Given the description of an element on the screen output the (x, y) to click on. 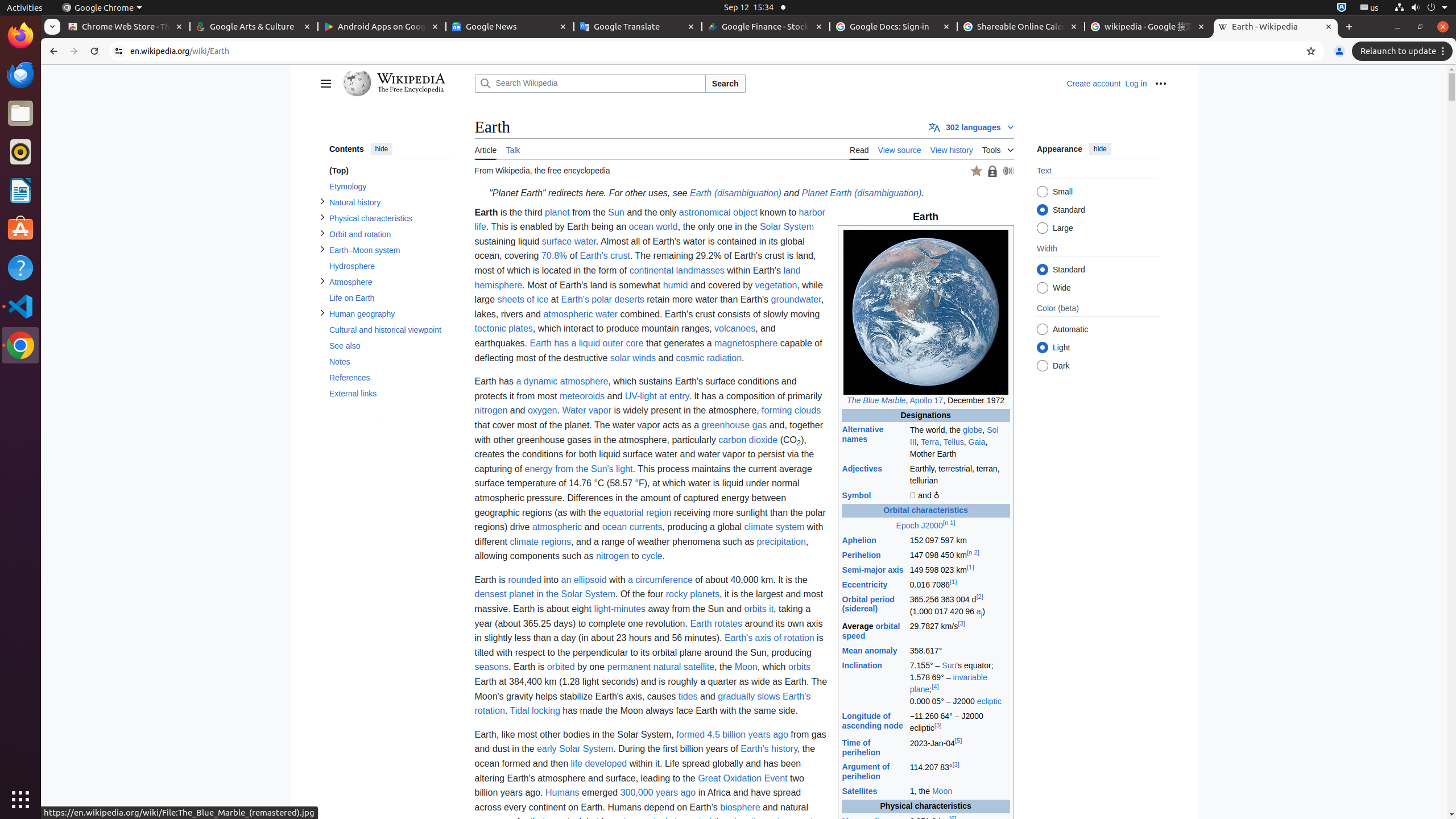
[3] Element type: link (961, 623)
Tidal locking Element type: link (534, 710)
114.20783°[3] Element type: table-cell (959, 771)
Light Element type: radio-button (1042, 347)
Sol III Element type: link (953, 435)
